Given the description of an element on the screen output the (x, y) to click on. 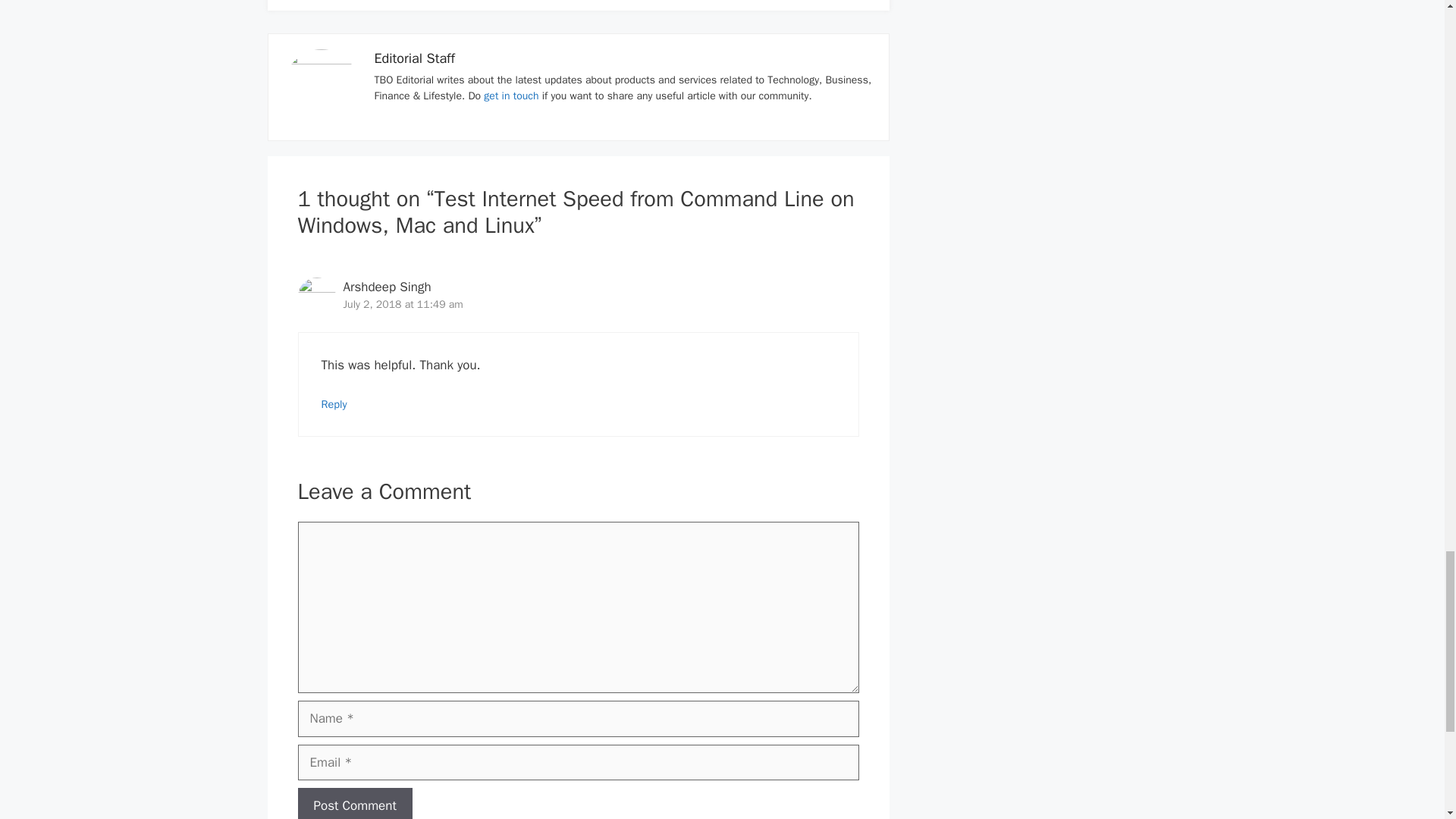
July 2, 2018 at 11:49 am (402, 304)
Editorial Staff (414, 57)
get in touch (510, 95)
Reply (334, 404)
Post Comment (354, 803)
Post Comment (354, 803)
